Given the description of an element on the screen output the (x, y) to click on. 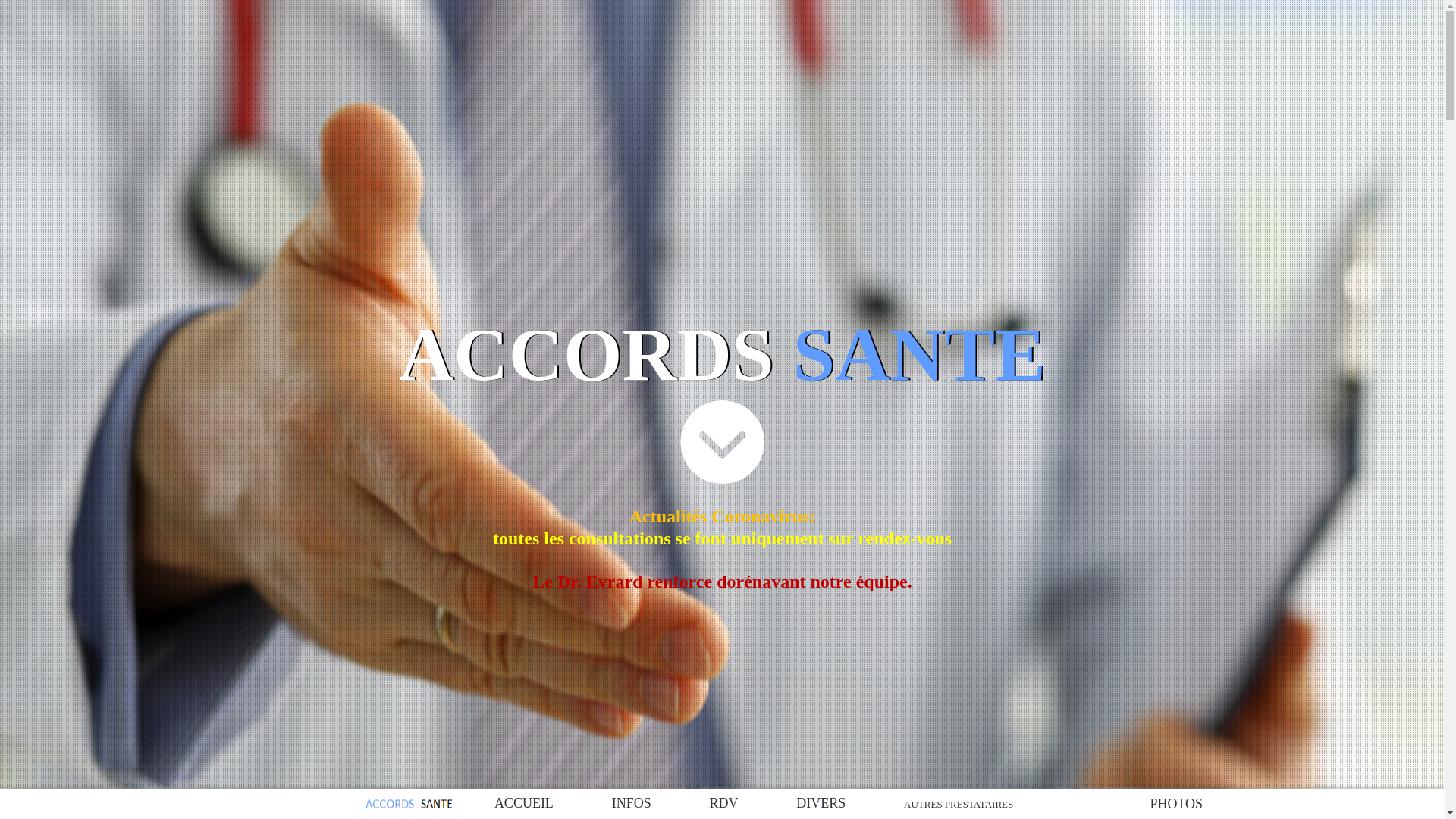
AUTRES PRESTATAIRES Element type: text (958, 803)
RDV Element type: text (723, 803)
ACCUEIL Element type: text (523, 803)
DIVERS Element type: text (820, 803)
INFOS Element type: text (631, 803)
